Given the description of an element on the screen output the (x, y) to click on. 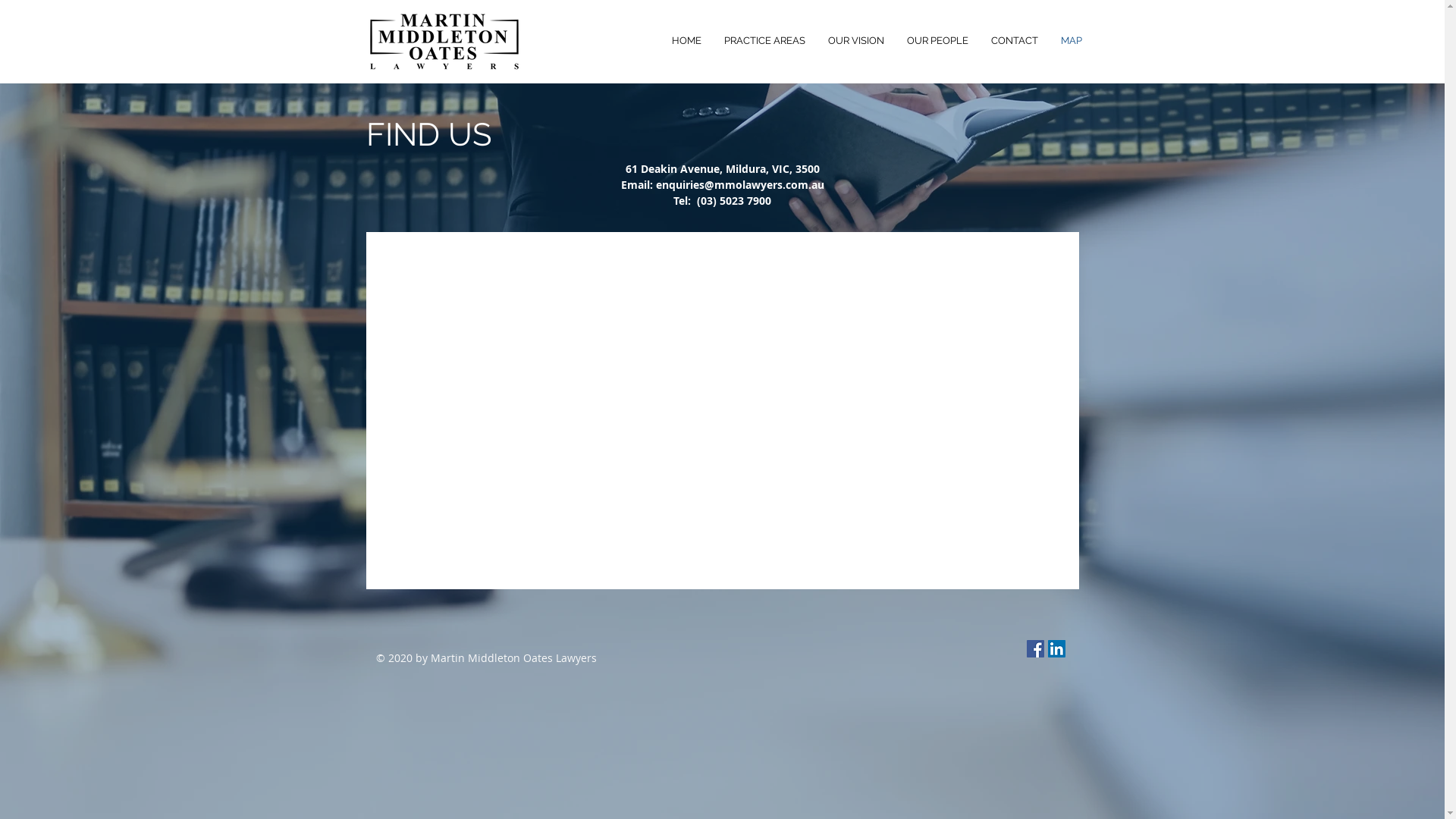
CONTACT Element type: text (1014, 40)
enquiries@mmolawyers.com.au Element type: text (739, 184)
Google Maps Element type: hover (722, 410)
PRACTICE AREAS Element type: text (764, 40)
OUR VISION Element type: text (854, 40)
HOME Element type: text (685, 40)
OUR PEOPLE Element type: text (936, 40)
MAP Element type: text (1071, 40)
